Given the description of an element on the screen output the (x, y) to click on. 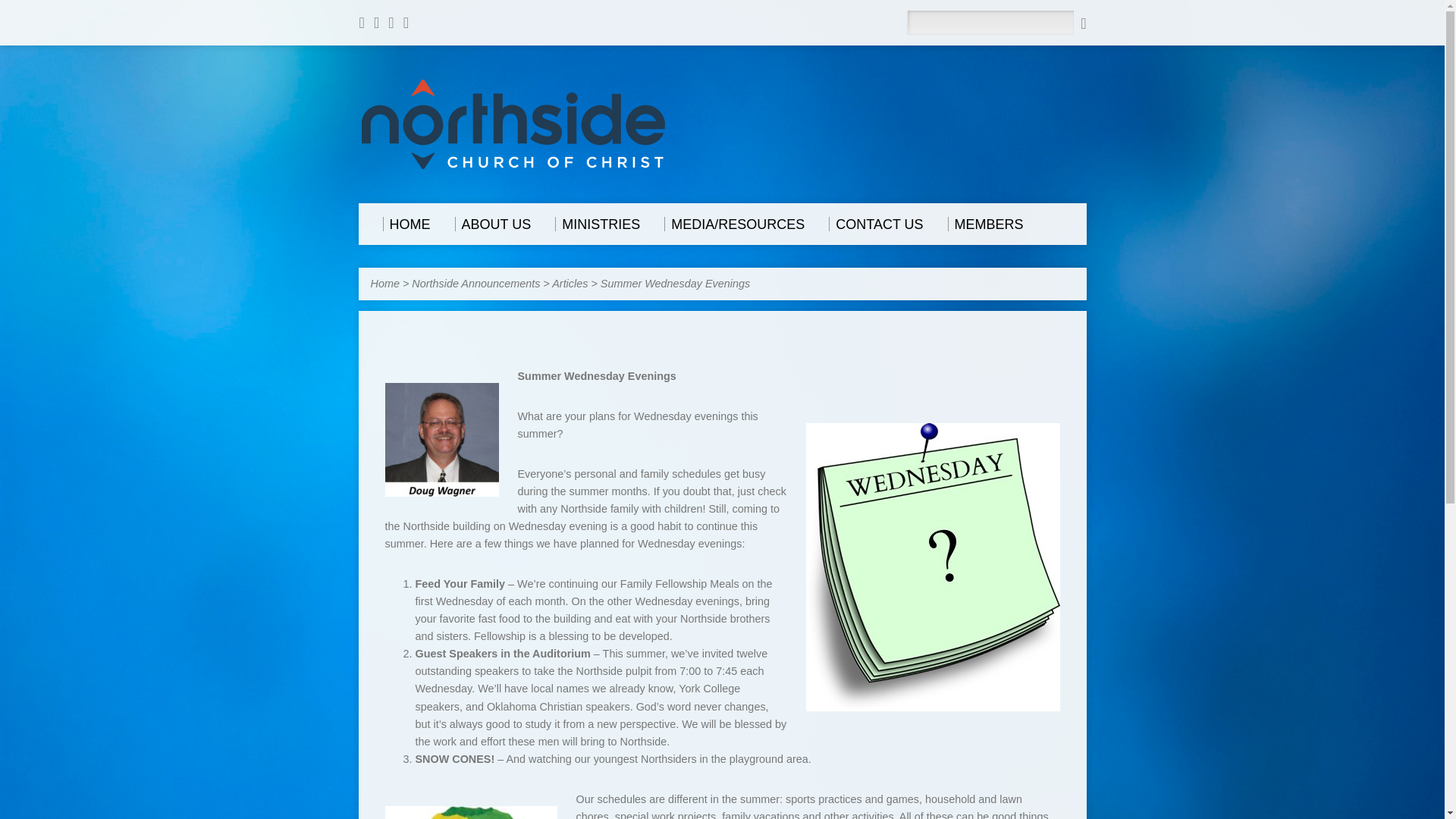
MINISTRIES (597, 223)
HOME (405, 223)
ABOUT US (492, 223)
